Given the description of an element on the screen output the (x, y) to click on. 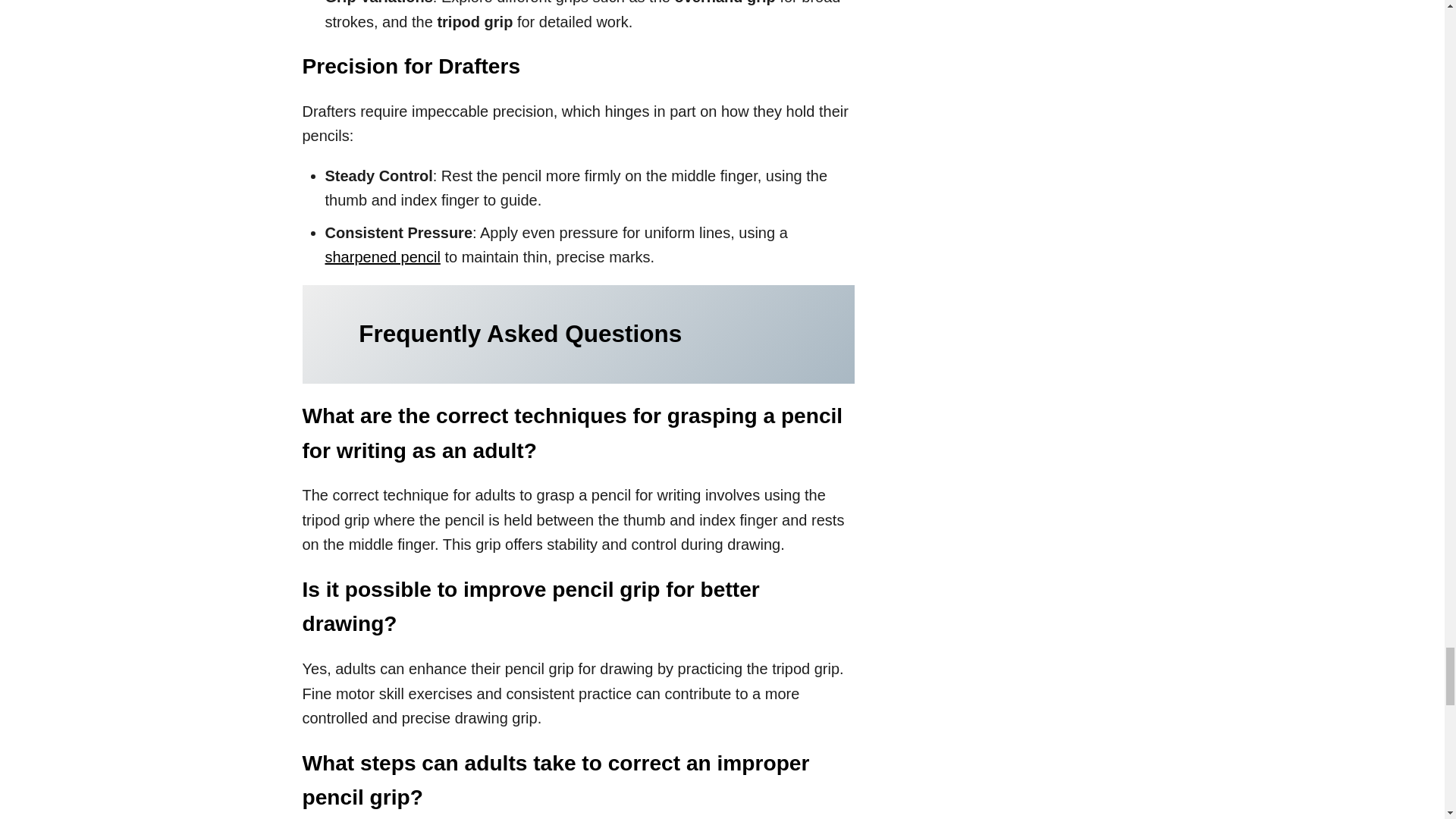
sharpened pencil (381, 256)
